Given the description of an element on the screen output the (x, y) to click on. 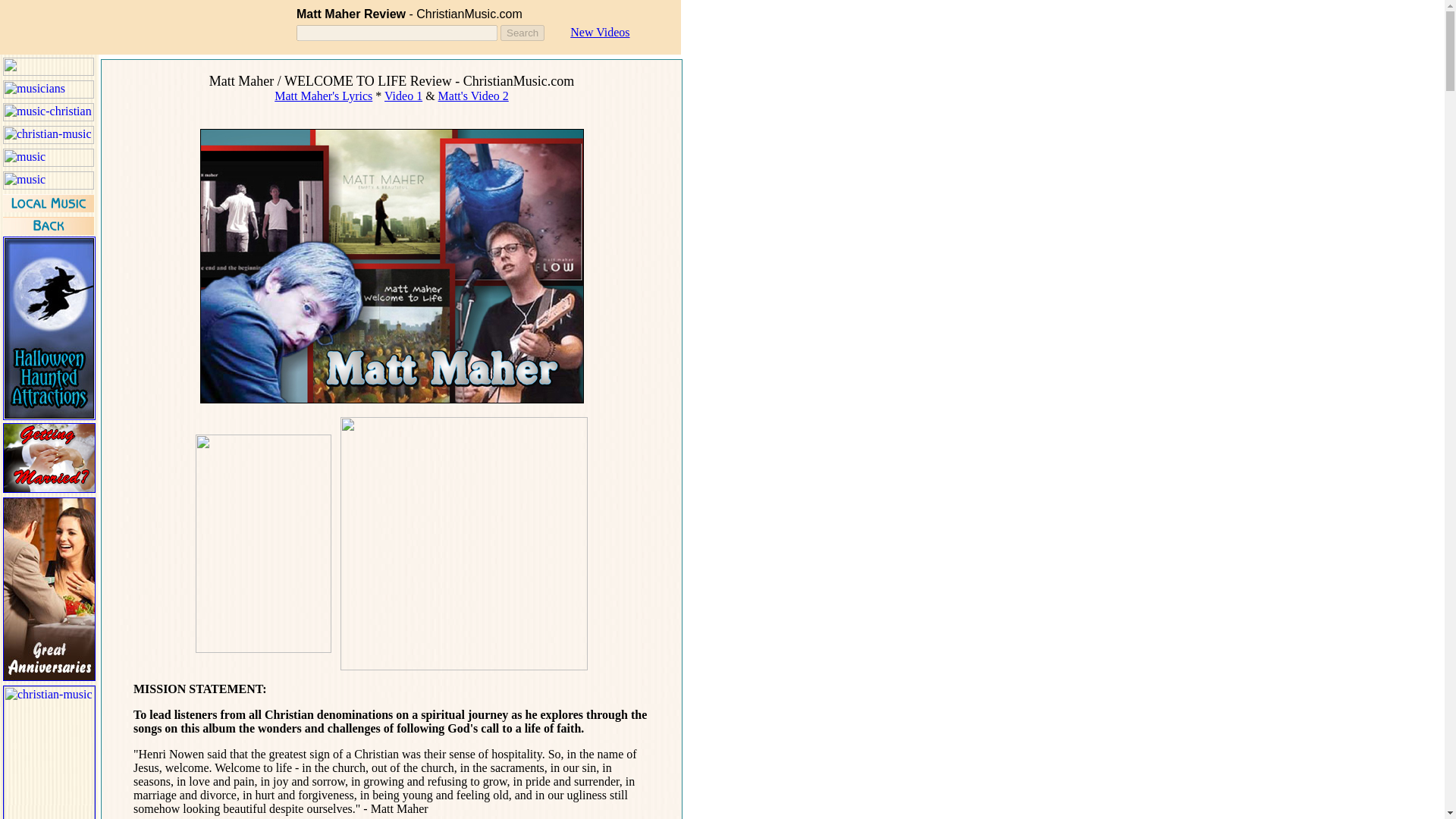
Search (522, 32)
Video 1 (403, 95)
Search (522, 32)
New Videos (599, 31)
Matt Maher's Lyrics (323, 95)
Matt's Video 2 (473, 95)
